Given the description of an element on the screen output the (x, y) to click on. 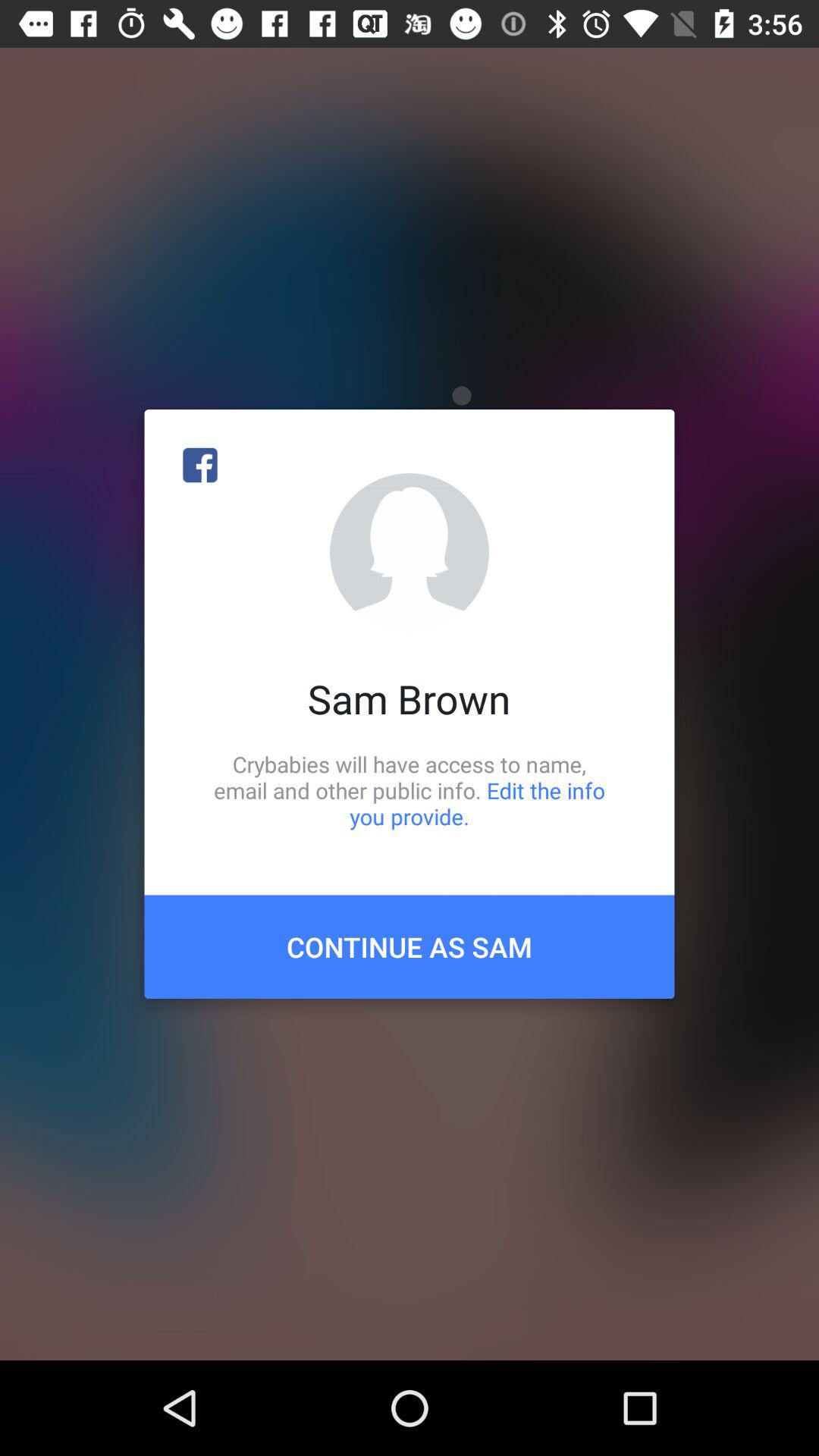
select the item below crybabies will have item (409, 946)
